Given the description of an element on the screen output the (x, y) to click on. 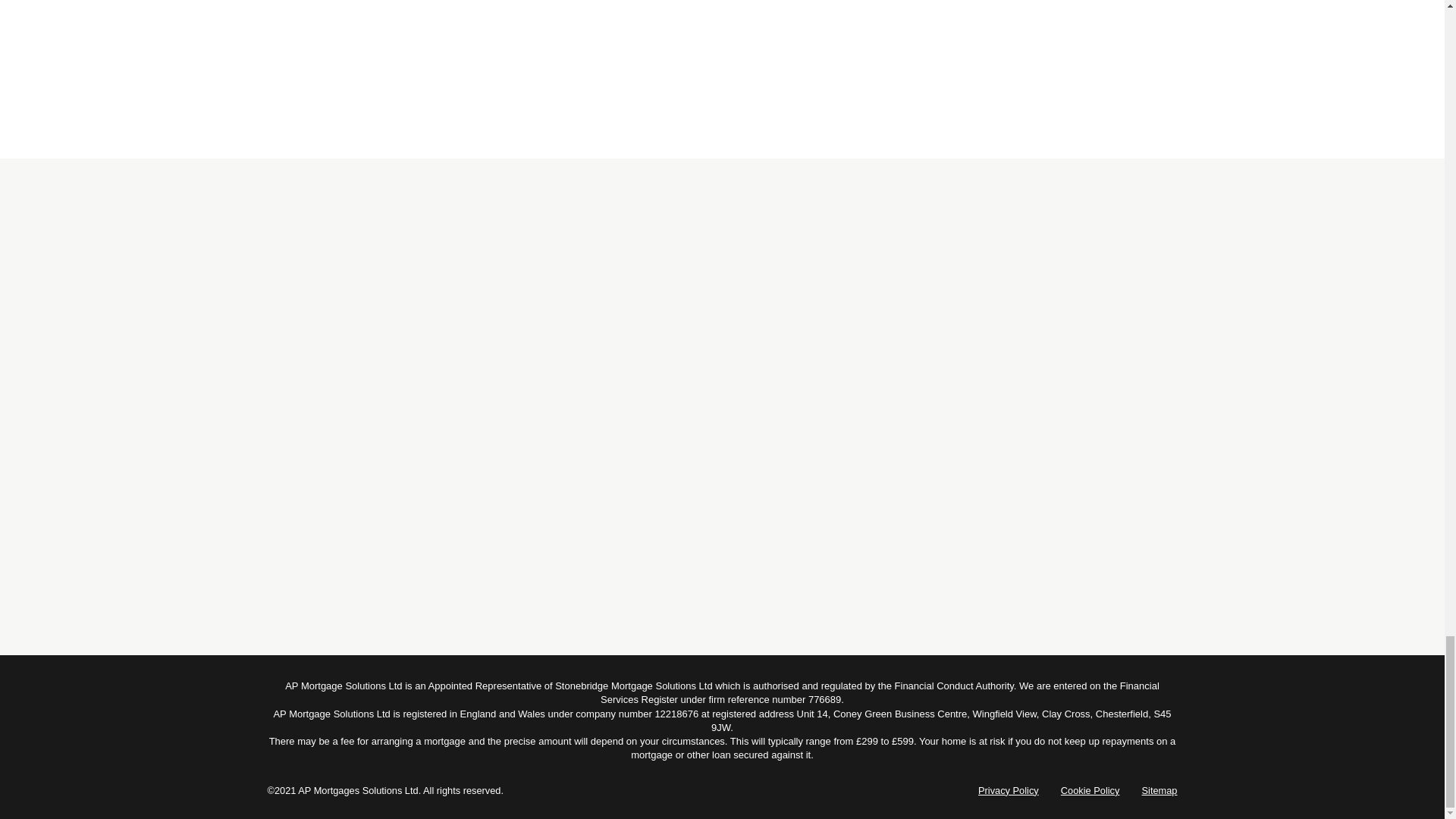
Send (486, 33)
